Given the description of an element on the screen output the (x, y) to click on. 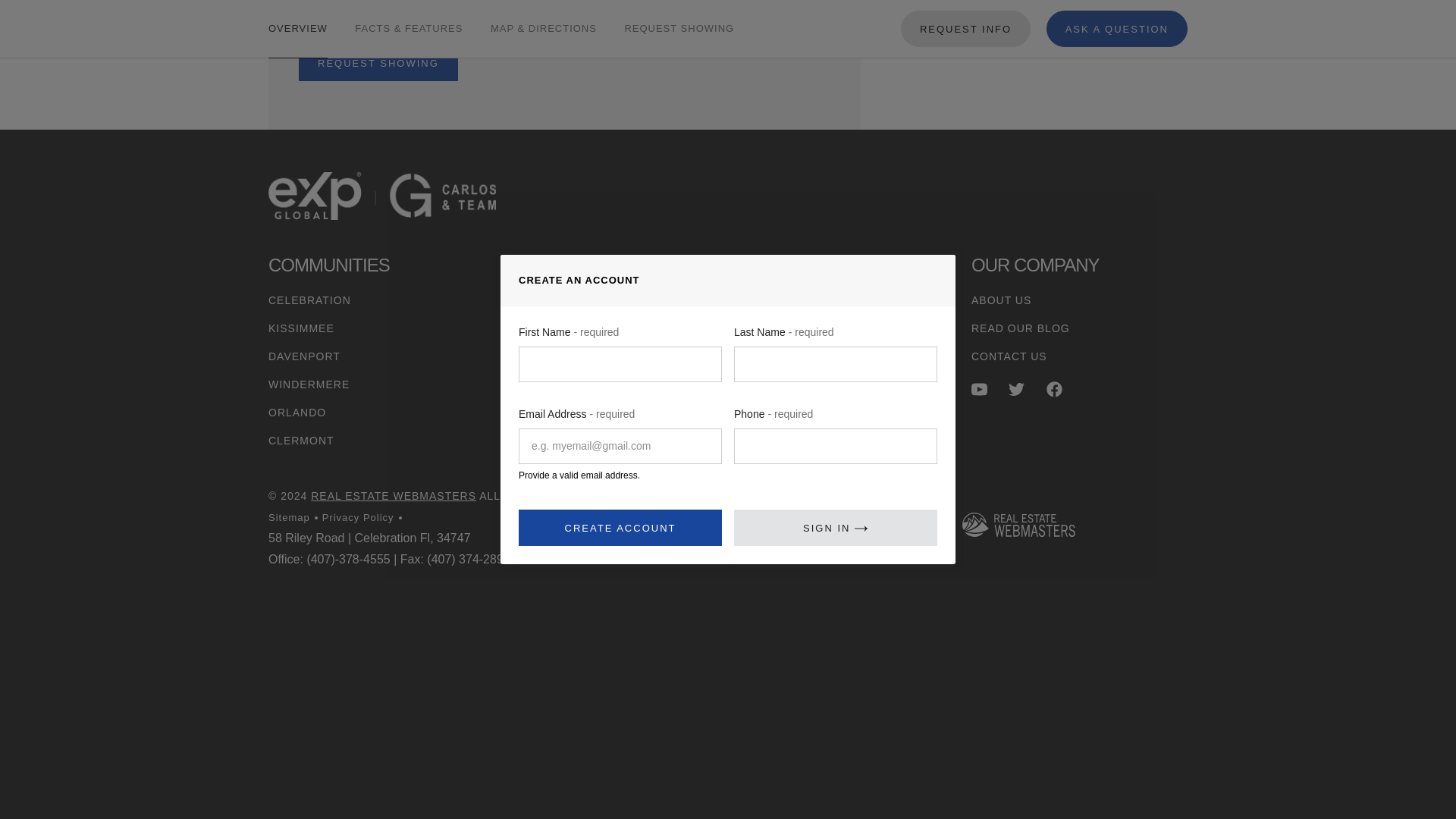
FACEBOOK (1054, 389)
YOUTUBE (979, 389)
TWITTER (1017, 389)
